Given the description of an element on the screen output the (x, y) to click on. 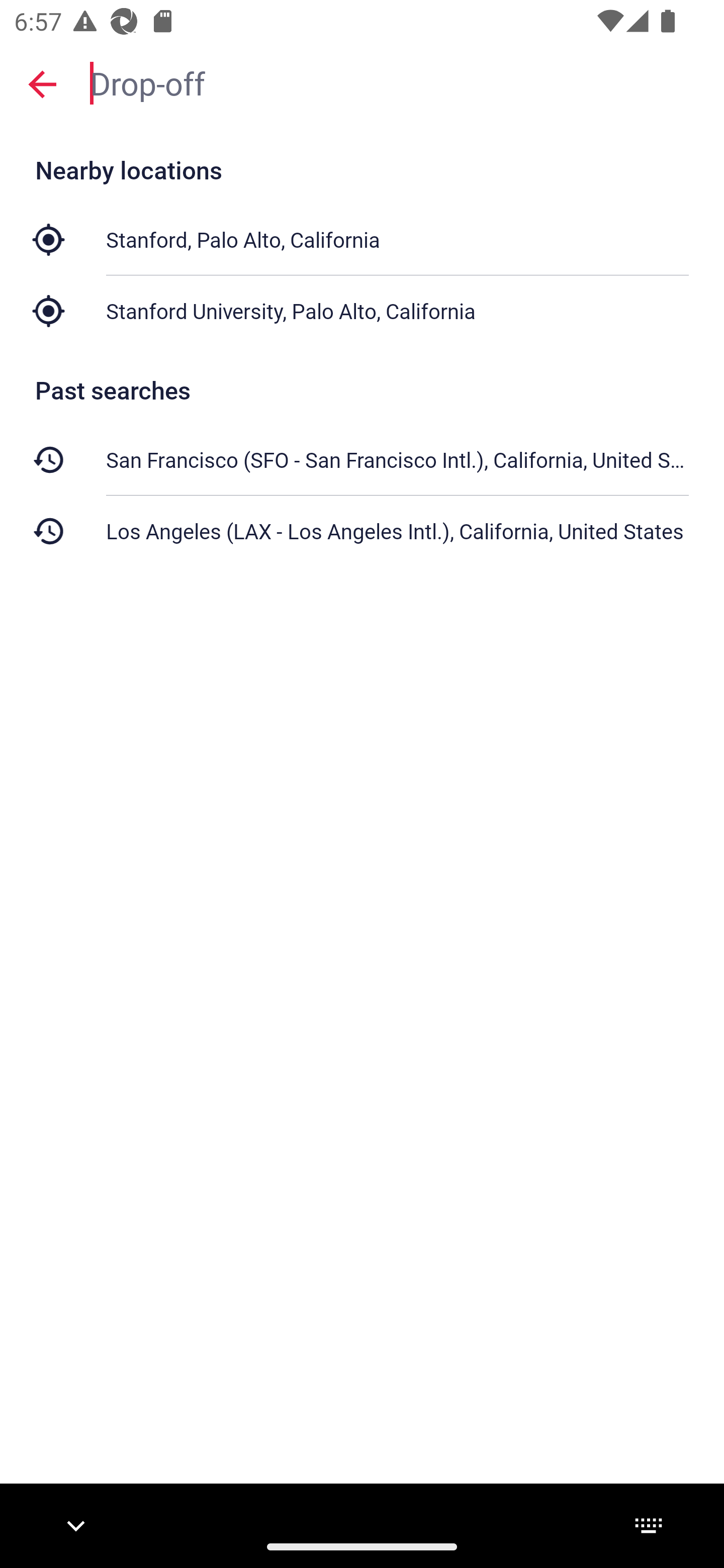
Drop-off,  (397, 82)
Close search screen (41, 83)
